Given the description of an element on the screen output the (x, y) to click on. 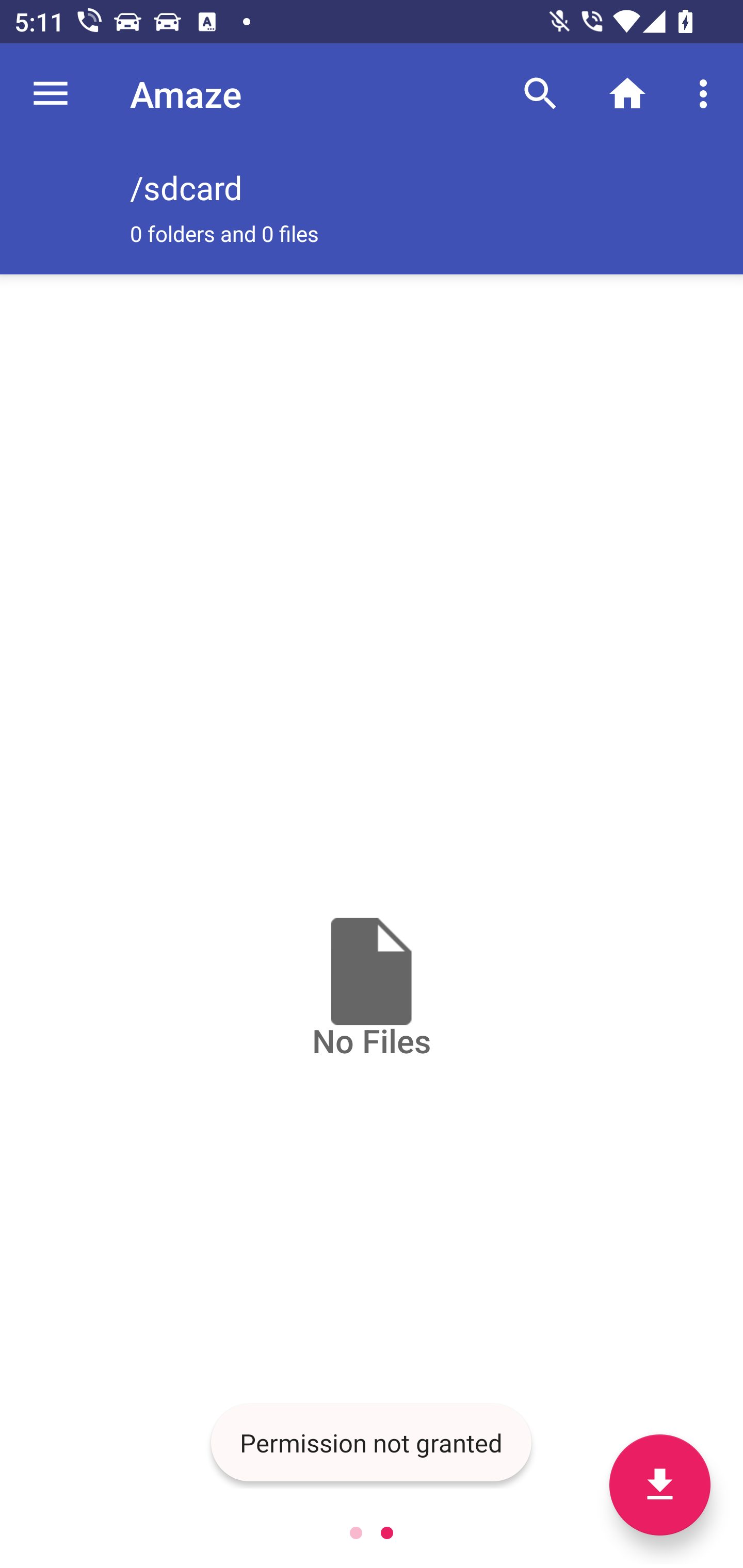
Navigate up (50, 93)
Search (540, 93)
Home (626, 93)
More options (706, 93)
